Given the description of an element on the screen output the (x, y) to click on. 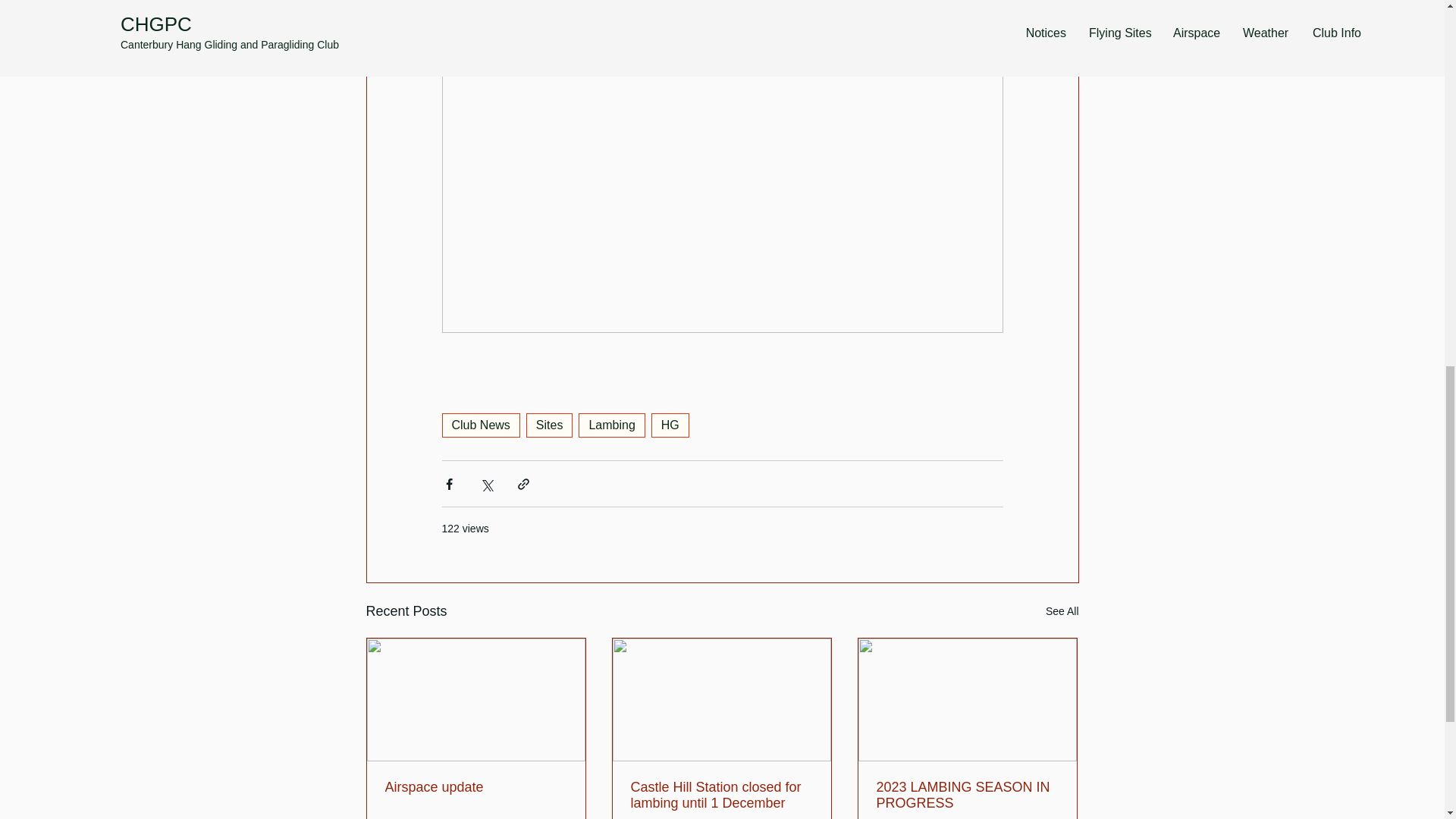
See All (1061, 611)
Castle Hill Station closed for lambing until 1 December (721, 795)
Airspace update (476, 787)
Lambing (611, 425)
HG (669, 425)
Sites (549, 425)
Club News (480, 425)
